Given the description of an element on the screen output the (x, y) to click on. 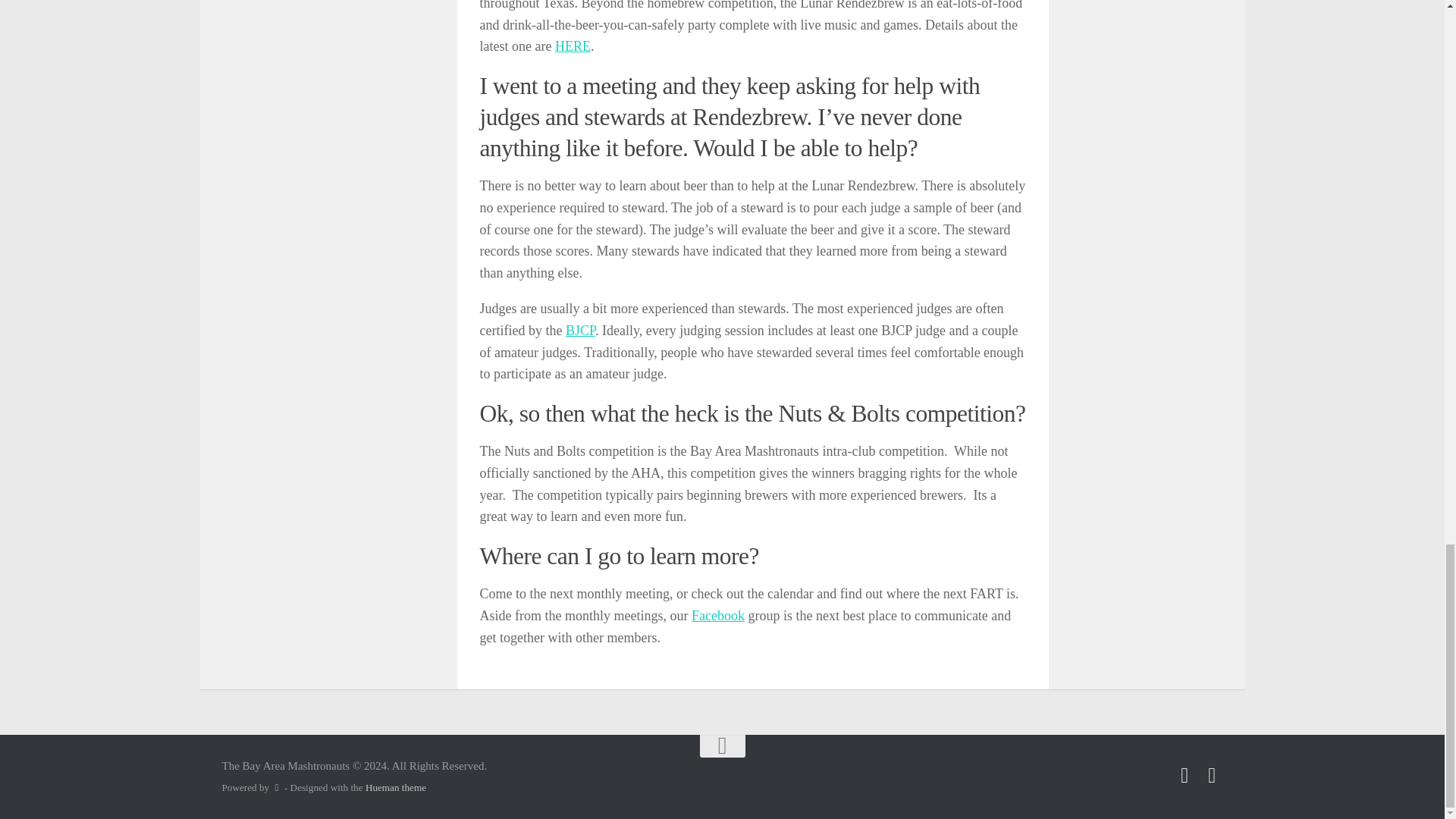
Follow us on Facebook (1184, 775)
Follow us on Twitter (1212, 775)
Powered by WordPress (275, 787)
Hueman theme (395, 787)
